Given the description of an element on the screen output the (x, y) to click on. 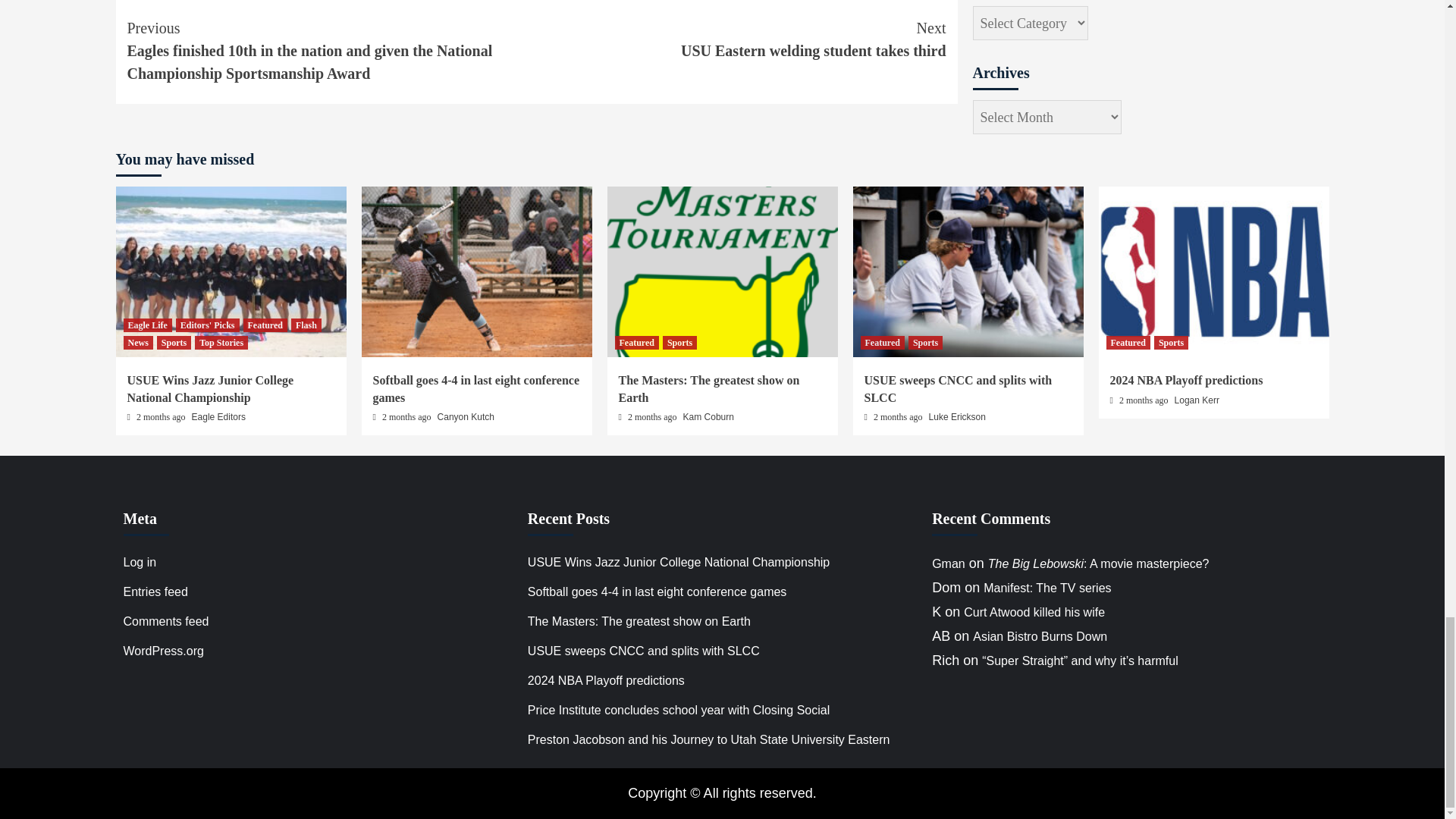
Posts by Luke Erickson (956, 416)
Posts by Logan Kerr (1197, 399)
Posts by Canyon Kutch (466, 416)
Posts by Eagle Editors (219, 416)
Posts by Kam Coburn (707, 416)
